Given the description of an element on the screen output the (x, y) to click on. 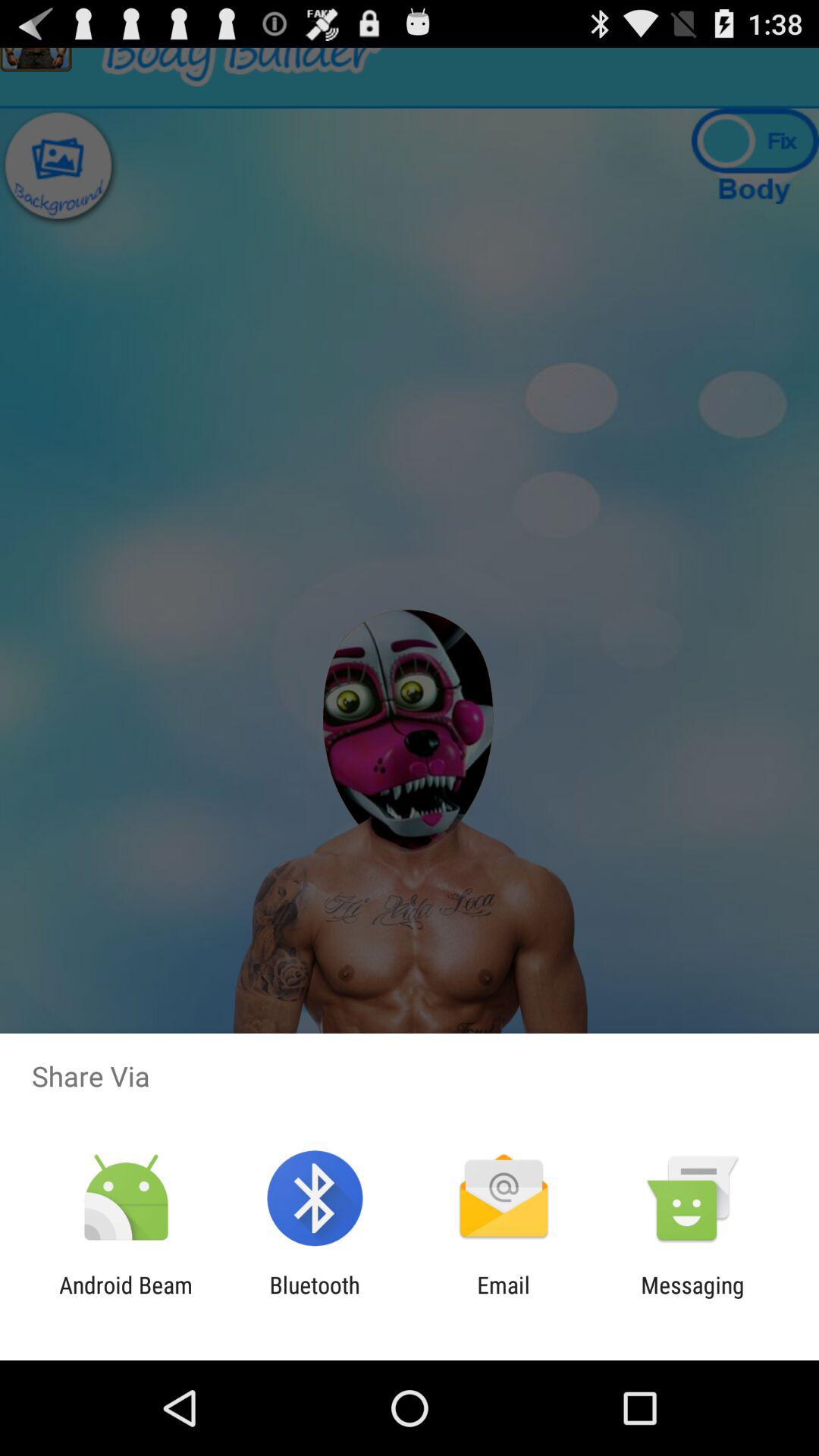
turn on the email (503, 1298)
